Given the description of an element on the screen output the (x, y) to click on. 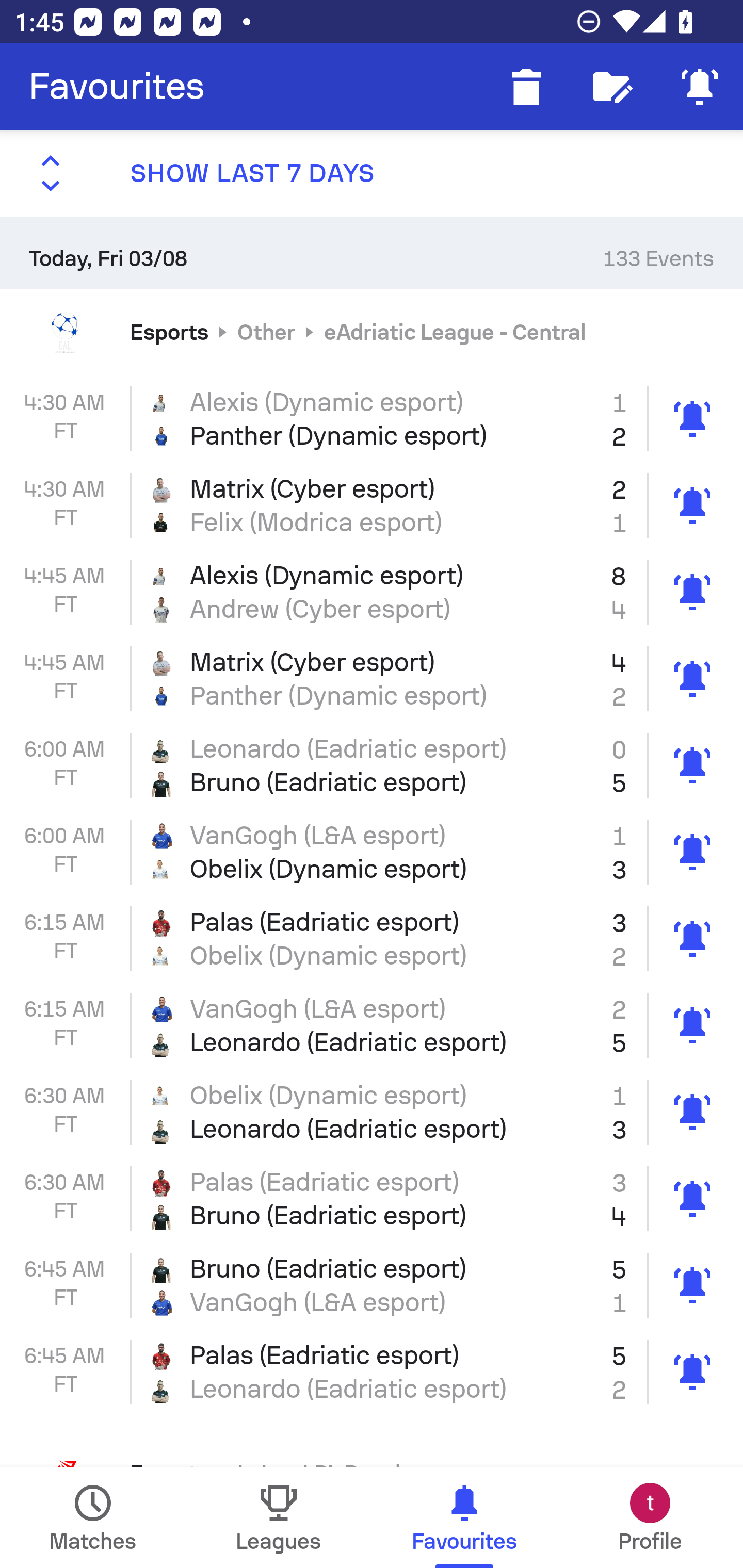
Favourites (116, 86)
Delete finished (525, 86)
Follow editor (612, 86)
Mute Notifications (699, 86)
SHOW LAST 7 DAYS (371, 173)
Today, Fri 03/08 133 Events (371, 252)
Esports Other eAdriatic League - Central (371, 331)
Matches (92, 1517)
Leagues (278, 1517)
Profile (650, 1517)
